Given the description of an element on the screen output the (x, y) to click on. 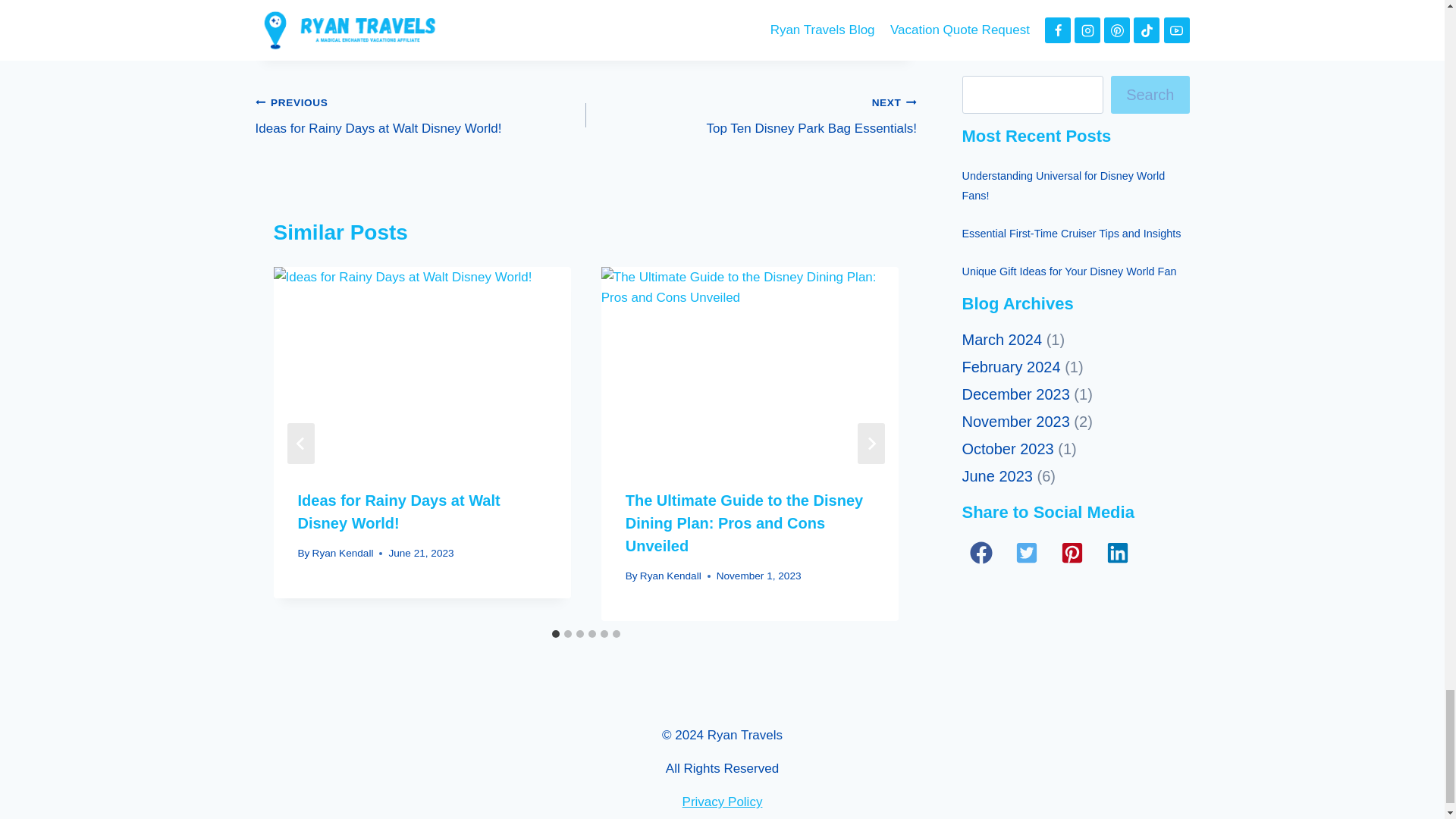
Animal Kingdom (326, 22)
EPCOT (480, 22)
Magic Kingdom (668, 22)
Hollywood Studios (419, 115)
Attractions (565, 22)
